Given the description of an element on the screen output the (x, y) to click on. 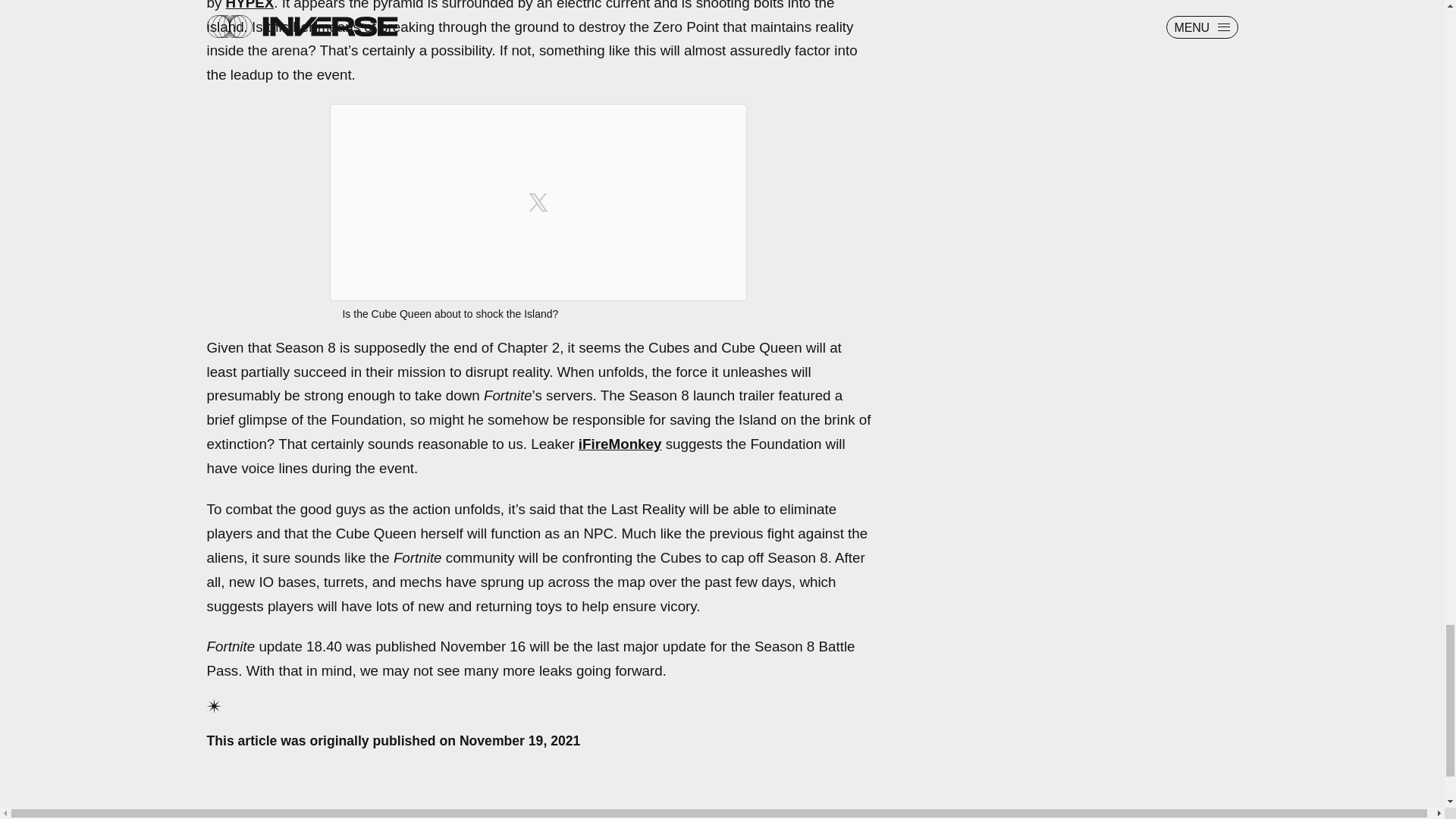
iFireMonkey (620, 443)
HYPEX (250, 5)
